Given the description of an element on the screen output the (x, y) to click on. 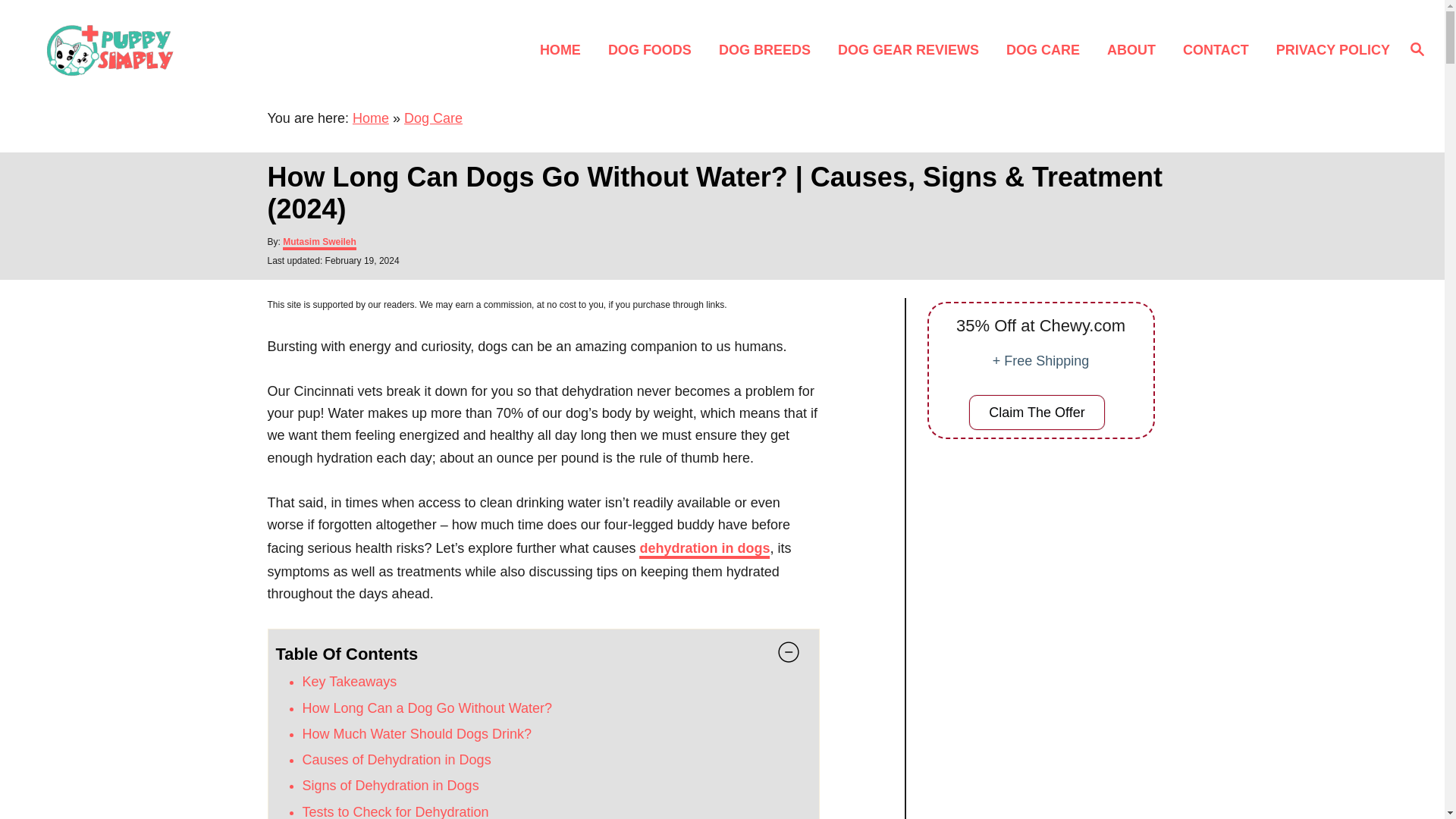
DOG BREEDS (769, 49)
DOG CARE (1047, 49)
How Long Can a Dog Go Without Water? (426, 708)
PRIVACY POLICY (1328, 49)
CONTACT (1219, 49)
Home (370, 118)
DOG GEAR REVIEWS (912, 49)
ABOUT (1135, 49)
Causes of Dehydration in Dogs (395, 759)
Magnifying Glass (1416, 48)
Signs of Dehydration in Dogs (390, 785)
Mutasim Sweileh (319, 243)
How Much Water Should Dogs Drink? (416, 734)
HOME (564, 49)
Dog Care (433, 118)
